Given the description of an element on the screen output the (x, y) to click on. 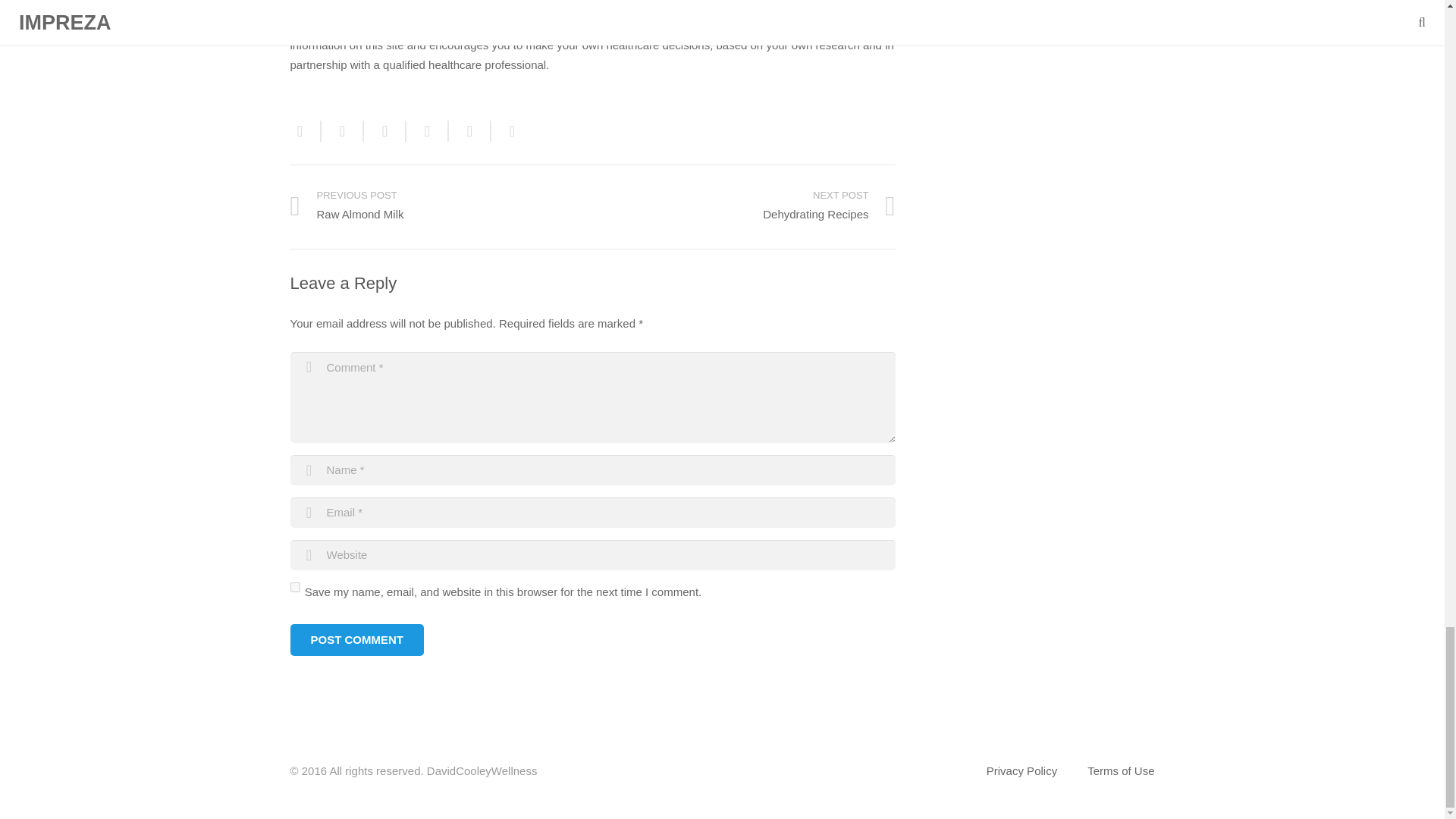
Share this (470, 130)
Post Comment (356, 640)
Share this (427, 130)
Tweet this (385, 130)
yes (294, 587)
Email this (743, 207)
Pin this (304, 130)
Post Comment (507, 130)
Share this (356, 640)
